Given the description of an element on the screen output the (x, y) to click on. 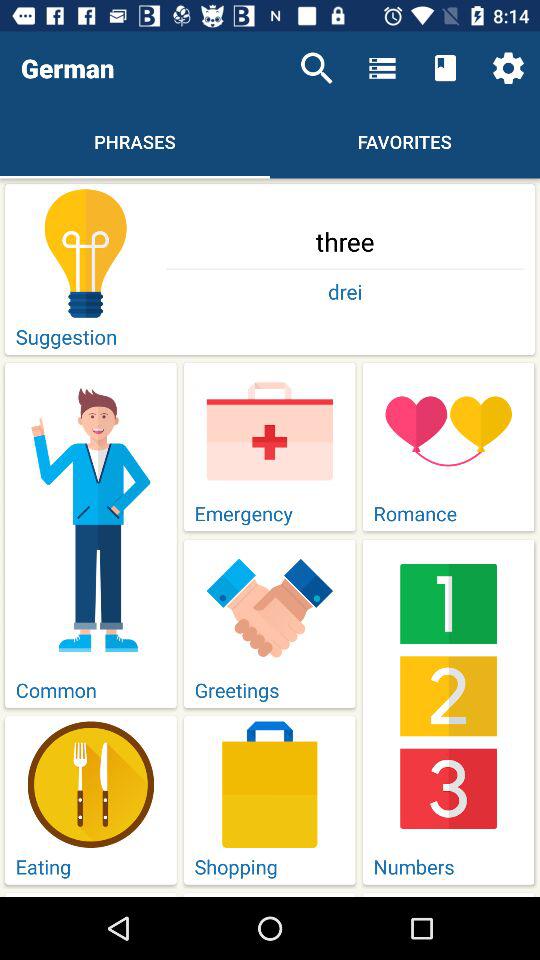
click the item next to german (316, 67)
